Given the description of an element on the screen output the (x, y) to click on. 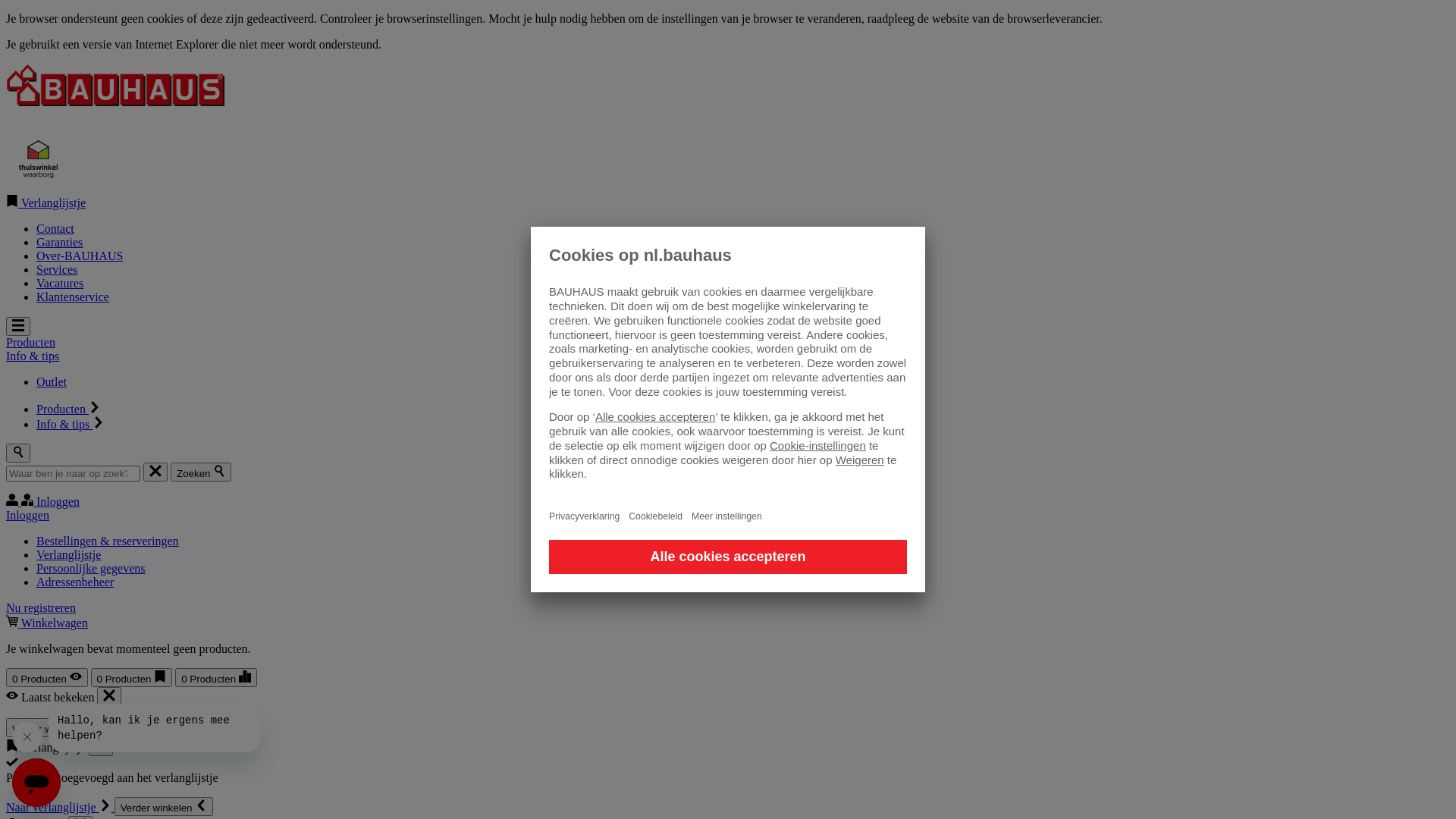
Nu registreren Element type: text (40, 607)
Bestellingen & reserveringen Element type: text (107, 540)
Over-BAUHAUS Element type: text (79, 255)
Verlanglijstje Element type: text (68, 554)
Info & tips Element type: text (32, 355)
Verder winkelen Element type: text (163, 806)
Naar verlanglijstje Element type: text (60, 806)
Verder winkelen Element type: text (55, 727)
Inloggen Element type: text (42, 501)
Producten Element type: text (30, 341)
Verlanglijstje Element type: hover (100, 746)
Inloggen Element type: text (27, 514)
Adressenbeheer Element type: text (74, 581)
Winkelwagen Element type: text (46, 622)
Close message Element type: hover (27, 736)
Outlet Element type: text (51, 381)
Contact Element type: text (55, 228)
Producten Element type: text (68, 408)
Vacatures Element type: text (59, 282)
Message from company Element type: hover (154, 727)
Verlanglijstje Element type: text (45, 202)
0 Producten Element type: text (216, 677)
Button to launch messaging window Element type: hover (36, 782)
Zoeken Element type: text (200, 471)
Laatst bekeken Element type: hover (109, 696)
Persoonlijke gegevens Element type: text (90, 567)
0 Producten Element type: text (46, 677)
0 Producten Element type: text (131, 677)
Info & tips Element type: text (70, 423)
Garanties Element type: text (59, 241)
Klantenservice Element type: text (72, 296)
Services Element type: text (56, 269)
